Given the description of an element on the screen output the (x, y) to click on. 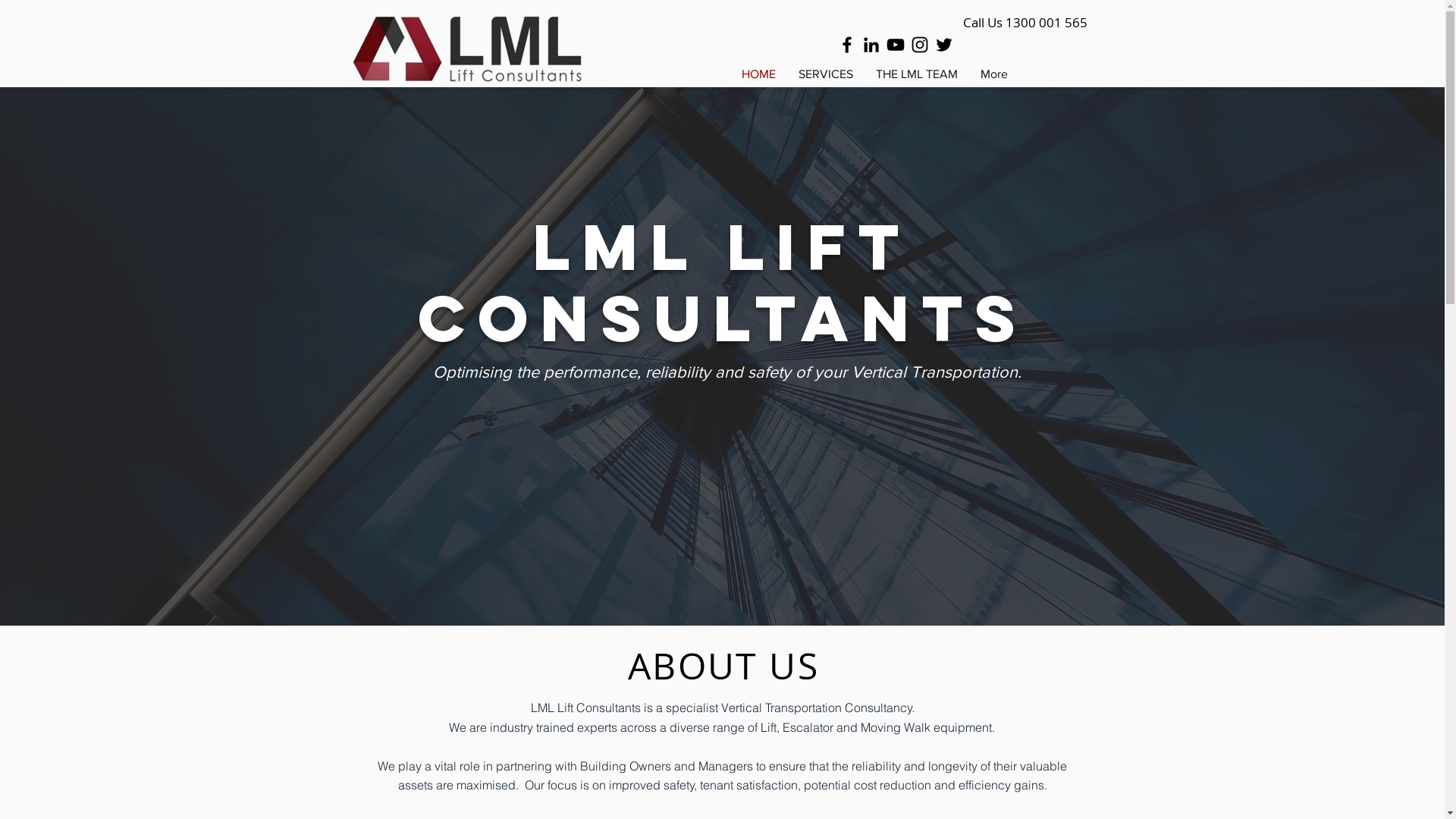
Call Us 1300 001 565 Element type: text (1017, 22)
HOME Element type: text (757, 73)
THE LML TEAM Element type: text (916, 73)
